Given the description of an element on the screen output the (x, y) to click on. 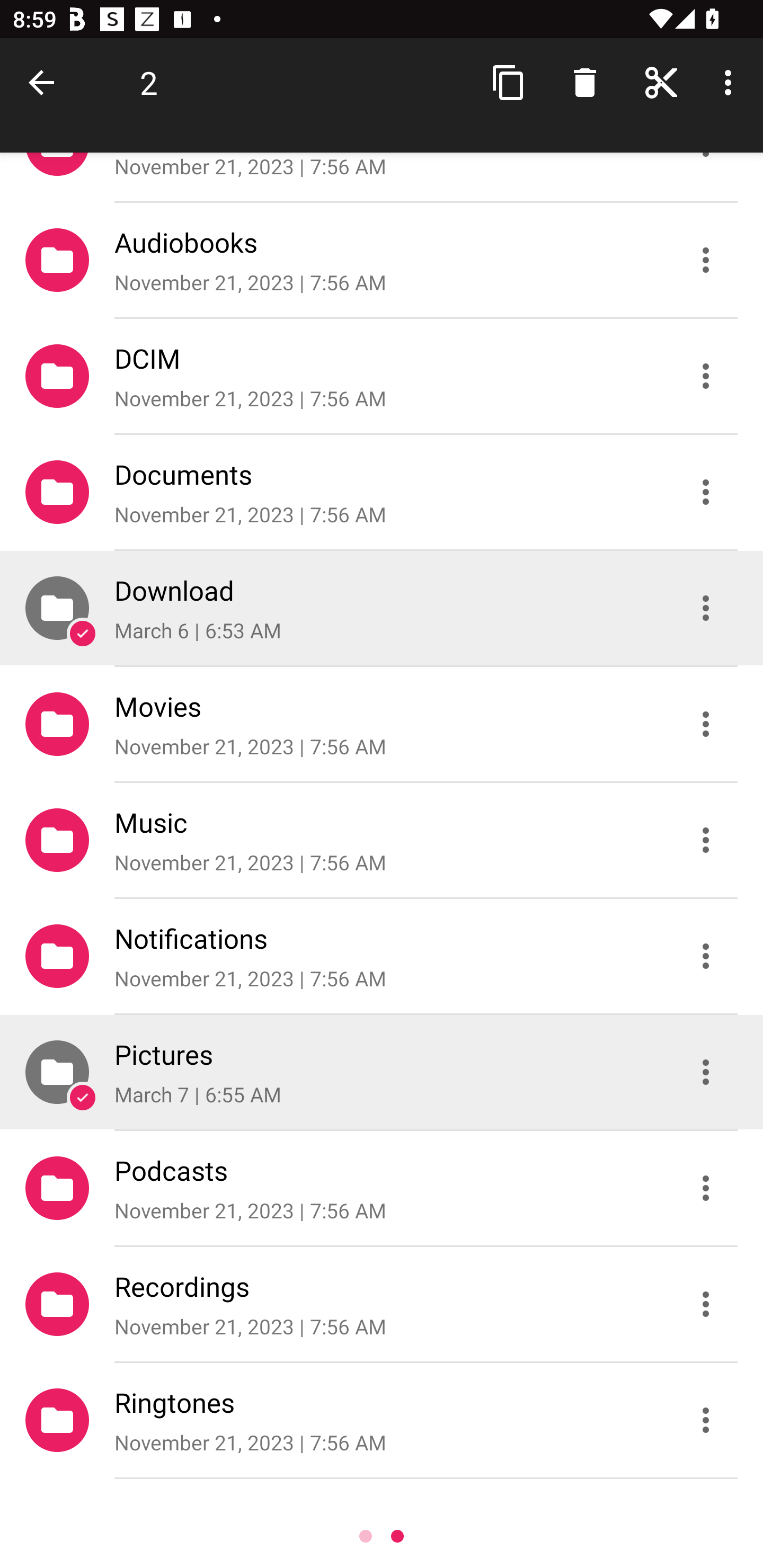
2 (148, 82)
Done (44, 81)
Copy (508, 81)
Delete (585, 81)
Cut (661, 81)
More options (731, 81)
Audiobooks November 21, 2023 | 7:56 AM (381, 259)
DCIM November 21, 2023 | 7:56 AM (381, 375)
Documents November 21, 2023 | 7:56 AM (381, 491)
Download March 6 | 6:53 AM (381, 607)
Movies November 21, 2023 | 7:56 AM (381, 723)
Music November 21, 2023 | 7:56 AM (381, 839)
Notifications November 21, 2023 | 7:56 AM (381, 955)
Pictures March 7 | 6:55 AM (381, 1071)
Podcasts November 21, 2023 | 7:56 AM (381, 1187)
Recordings November 21, 2023 | 7:56 AM (381, 1303)
Ringtones November 21, 2023 | 7:56 AM (381, 1419)
